Given the description of an element on the screen output the (x, y) to click on. 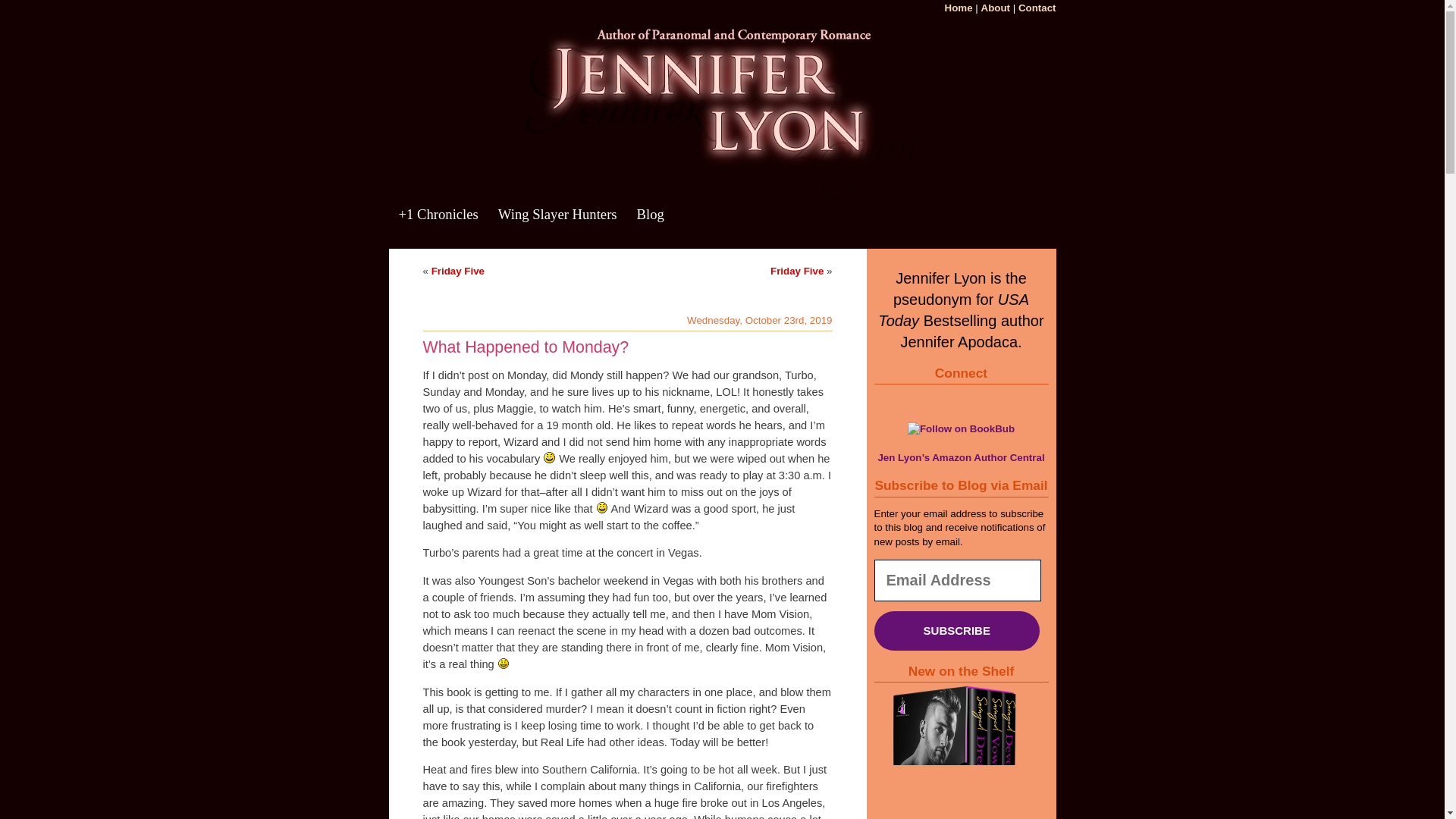
Friday Five (457, 270)
Friday Five (797, 270)
Pinterest (940, 398)
About (995, 7)
Twitter (912, 398)
Contact (1037, 7)
Amazon (993, 398)
RSS Feed (1021, 398)
Wing Slayer Hunters (558, 224)
Facebook (885, 398)
